Given the description of an element on the screen output the (x, y) to click on. 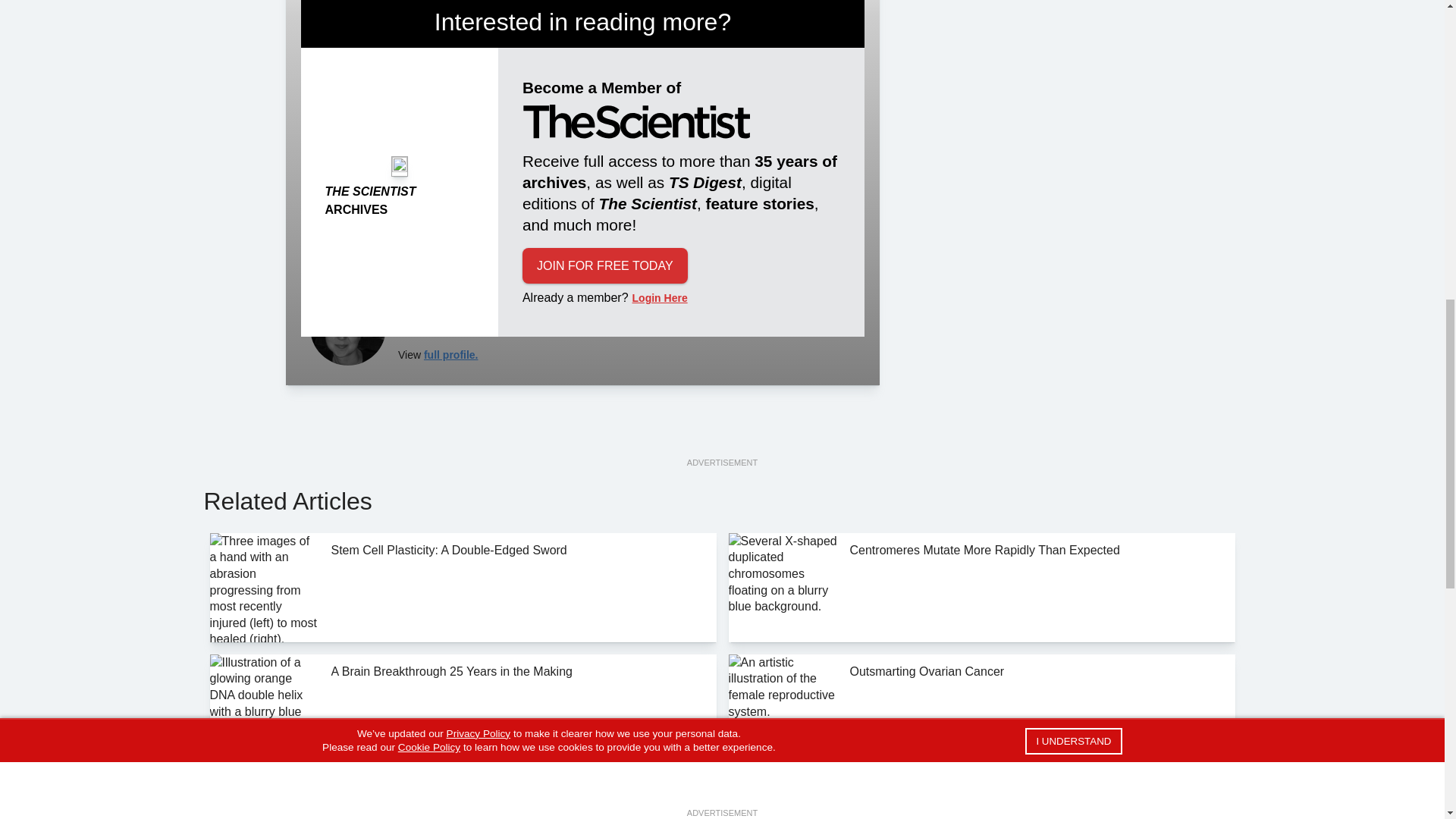
Anna Azvolinsky (347, 327)
